Given the description of an element on the screen output the (x, y) to click on. 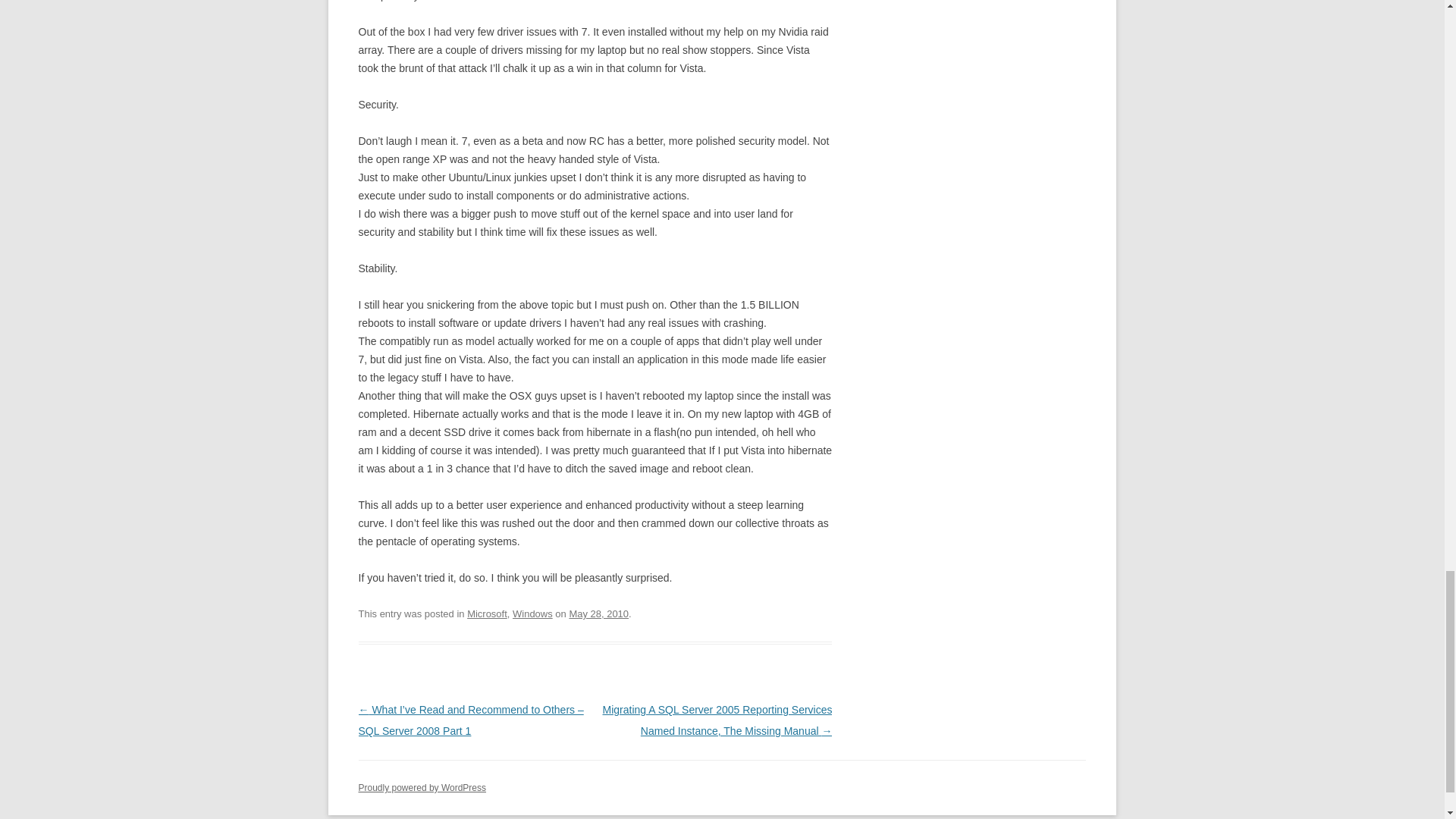
Proudly powered by WordPress (422, 787)
5:08 pm (598, 613)
Semantic Personal Publishing Platform (422, 787)
Windows (532, 613)
Microsoft (486, 613)
May 28, 2010 (598, 613)
